Given the description of an element on the screen output the (x, y) to click on. 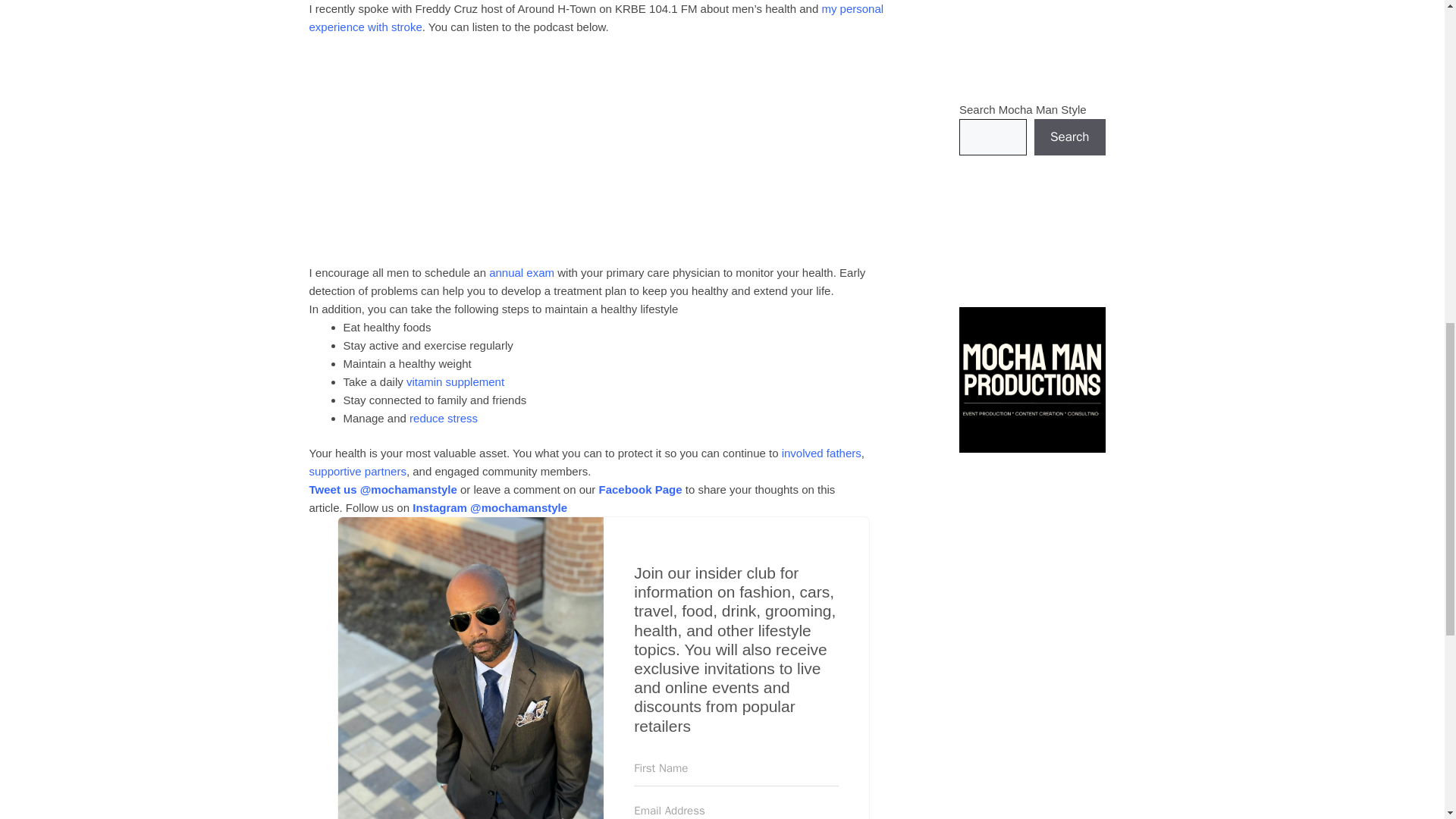
involved fathers (821, 452)
supportive partners (357, 471)
Search (1069, 136)
Audioboom player (574, 149)
my personal experience with stroke (595, 17)
Facebook Page (640, 489)
